Given the description of an element on the screen output the (x, y) to click on. 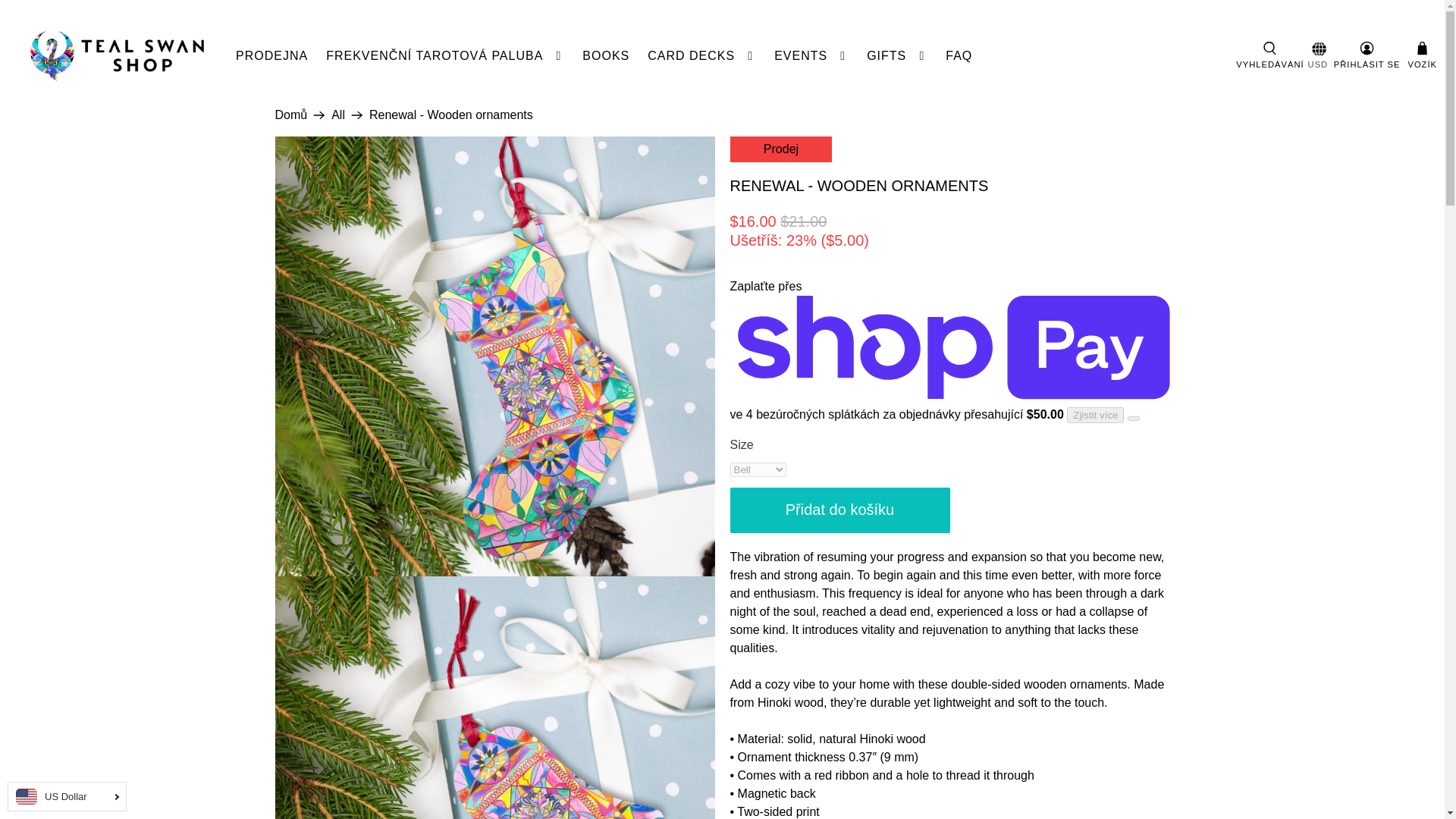
FAQ (958, 55)
BOOKS (606, 55)
EVENTS (811, 55)
Teal Swan Shop (116, 55)
US Dollar (66, 796)
GIFTS (896, 55)
PRODEJNA (272, 55)
CARD DECKS (702, 55)
Teal Swan Shop (291, 114)
